Given the description of an element on the screen output the (x, y) to click on. 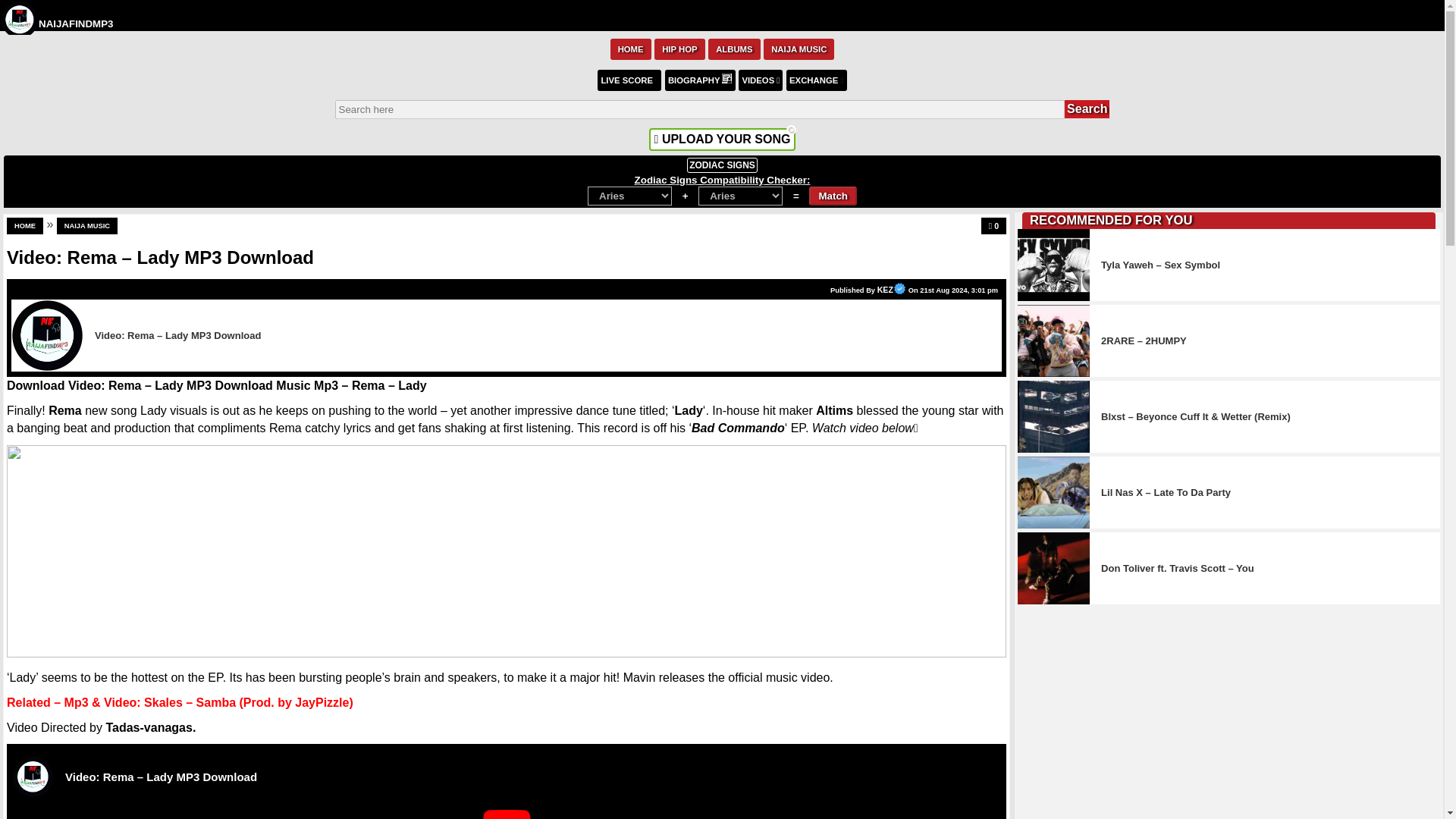
HOME (630, 47)
LIVE SCORE (628, 78)
NAIJA MUSIC (86, 225)
ZODIAC SIGNS (722, 165)
NAIJA MUSIC (798, 47)
HOME (25, 225)
BIOGRAPHY (700, 78)
VIDEOS (760, 78)
Search (1086, 108)
Search (1086, 108)
